Given the description of an element on the screen output the (x, y) to click on. 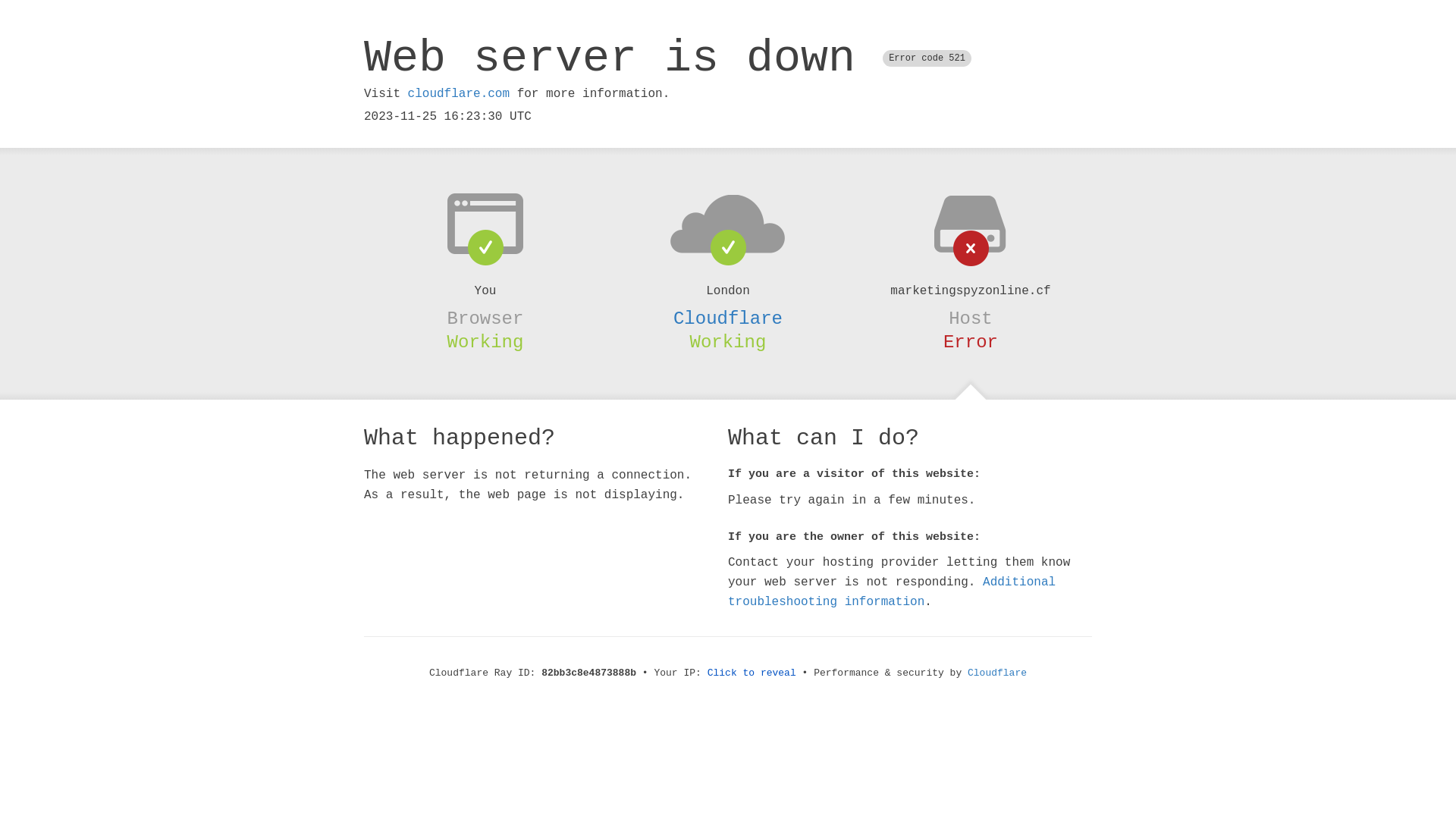
Click to reveal Element type: text (751, 672)
Cloudflare Element type: text (727, 318)
cloudflare.com Element type: text (458, 93)
Additional troubleshooting information Element type: text (891, 591)
Cloudflare Element type: text (996, 672)
